Given the description of an element on the screen output the (x, y) to click on. 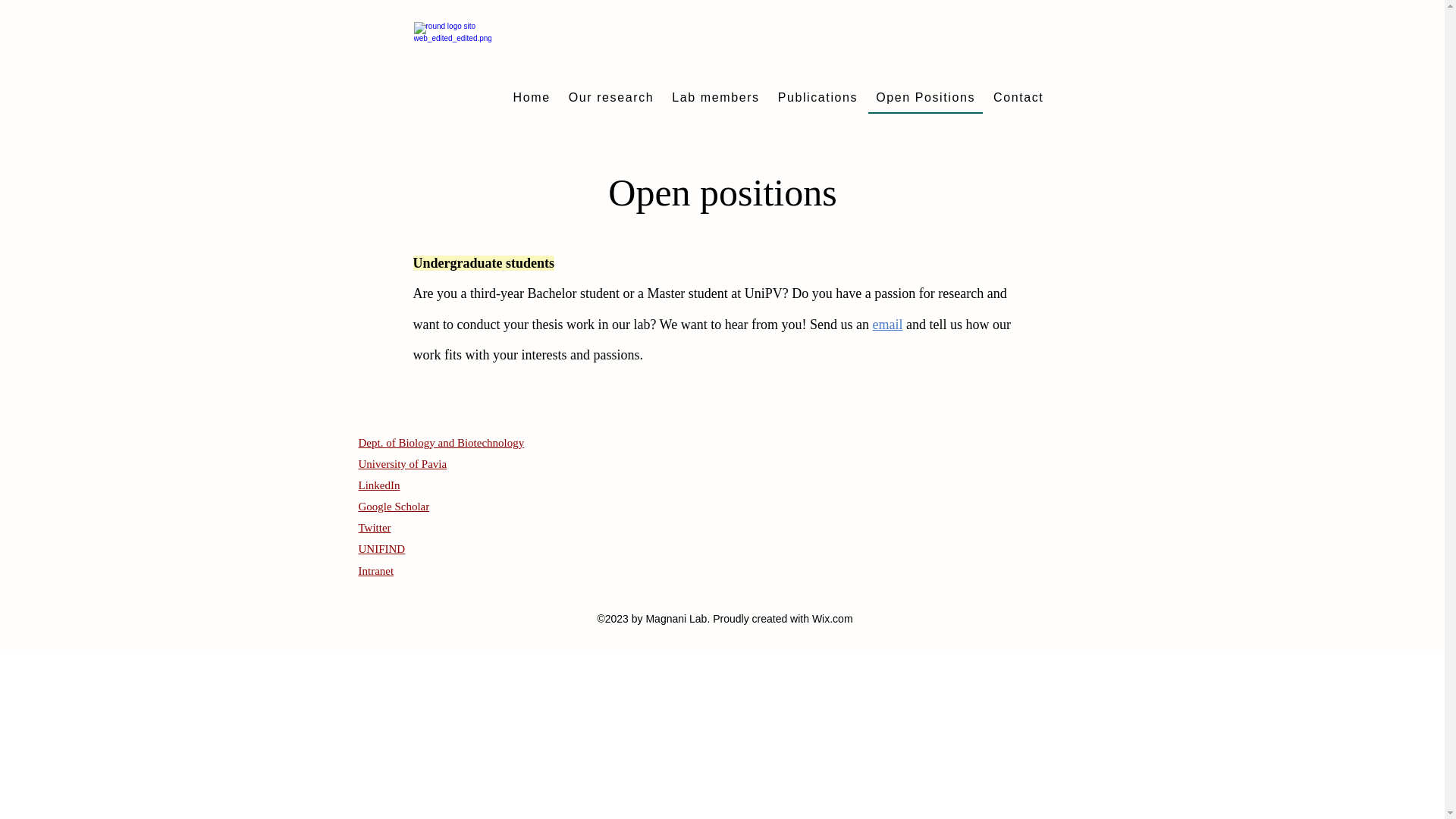
UNIFIND (381, 548)
Our research (611, 98)
Dept. of Biology and Biotechnology (441, 442)
Lab members (715, 98)
LinkedIn (378, 485)
Twitter (374, 527)
Publications (817, 98)
Open Positions (924, 98)
University of Pavia (402, 463)
Google Scholar (393, 506)
Contact (1018, 98)
email (888, 324)
Intranet (375, 571)
Home (531, 98)
